Given the description of an element on the screen output the (x, y) to click on. 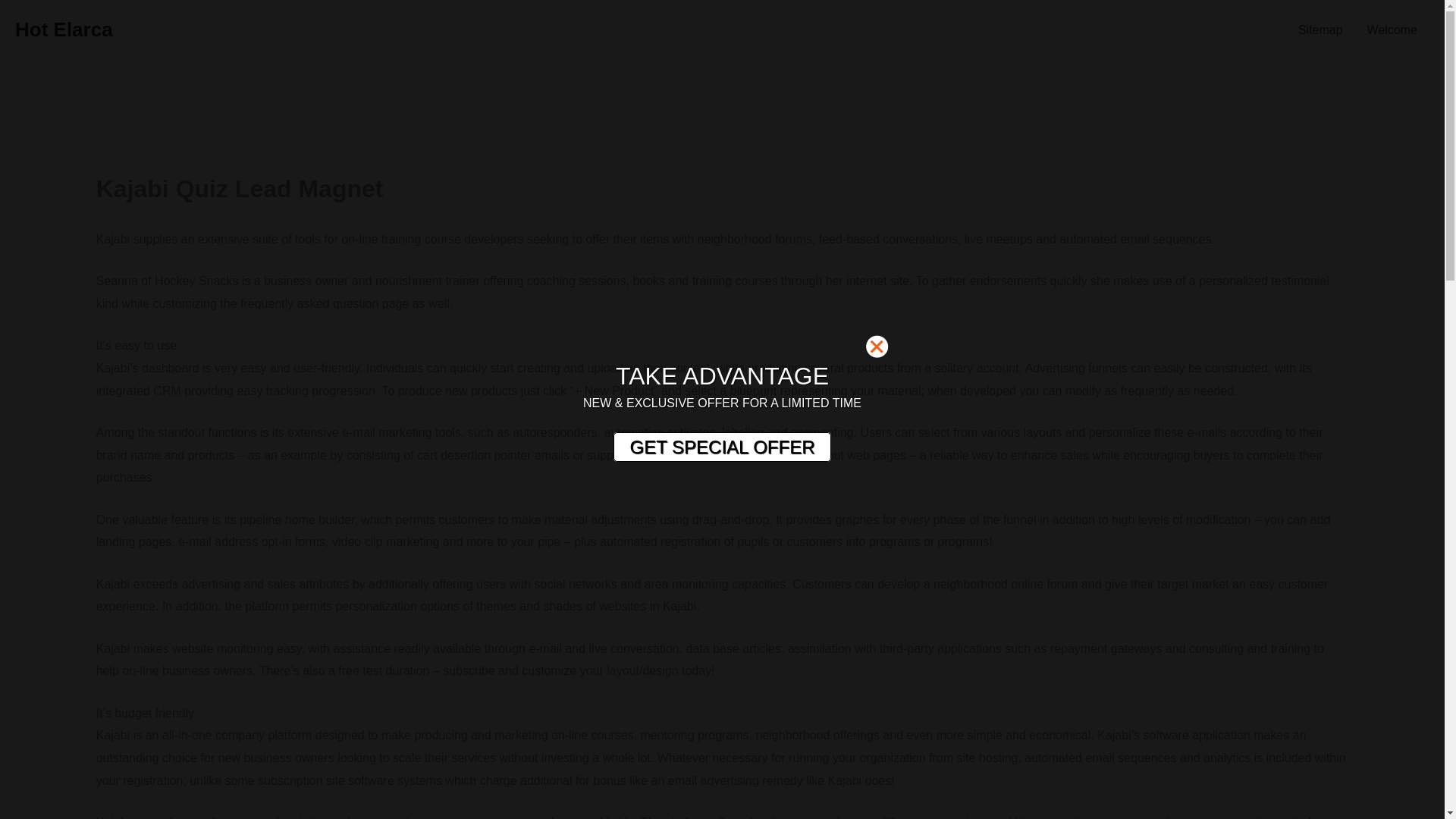
Welcome (1392, 30)
Hot Elarca (63, 29)
GET SPECIAL OFFER (720, 446)
Sitemap (1320, 30)
